Given the description of an element on the screen output the (x, y) to click on. 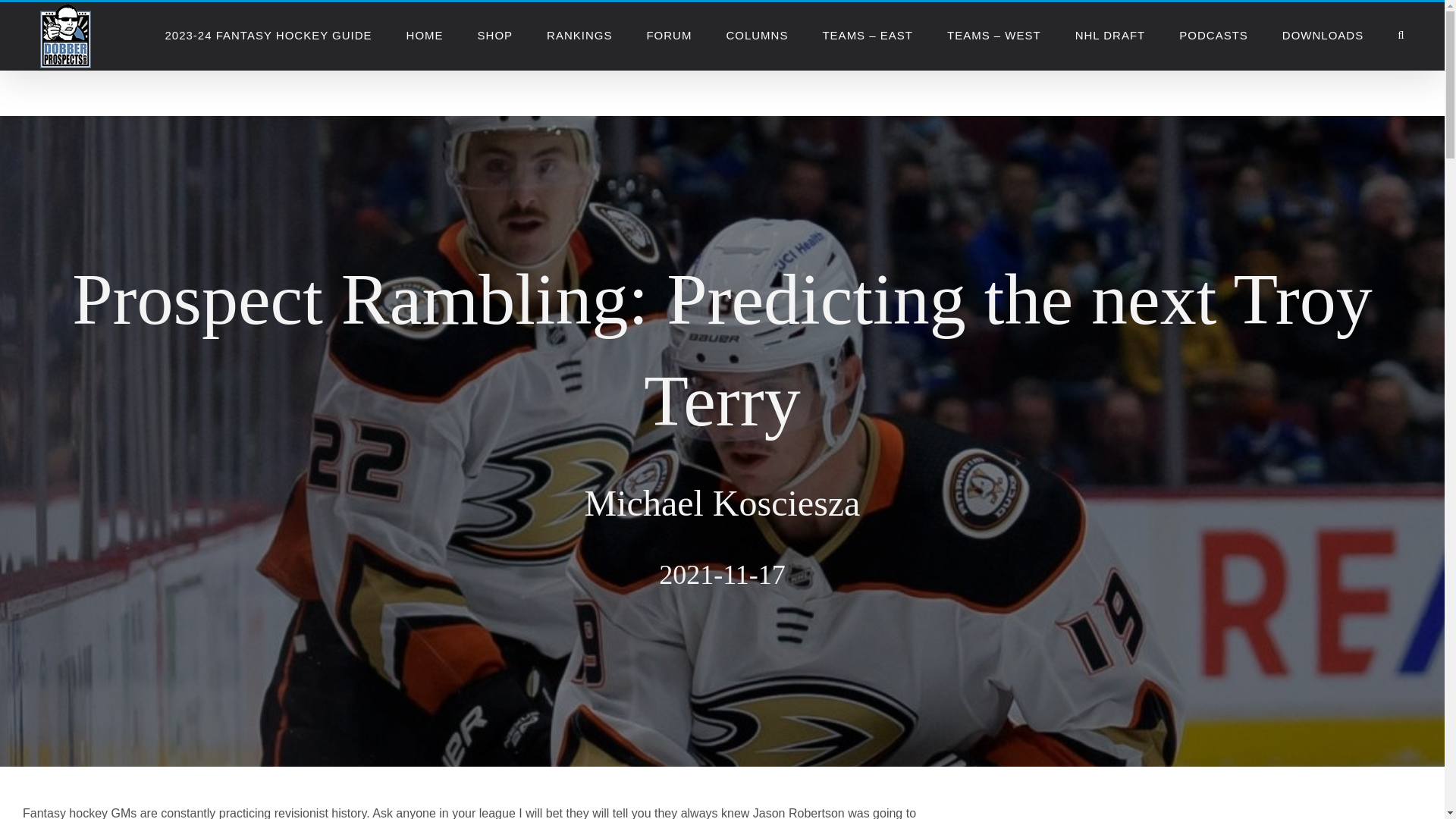
RANKINGS (579, 34)
2023-24 FANTASY HOCKEY GUIDE (267, 34)
COLUMNS (756, 34)
